Given the description of an element on the screen output the (x, y) to click on. 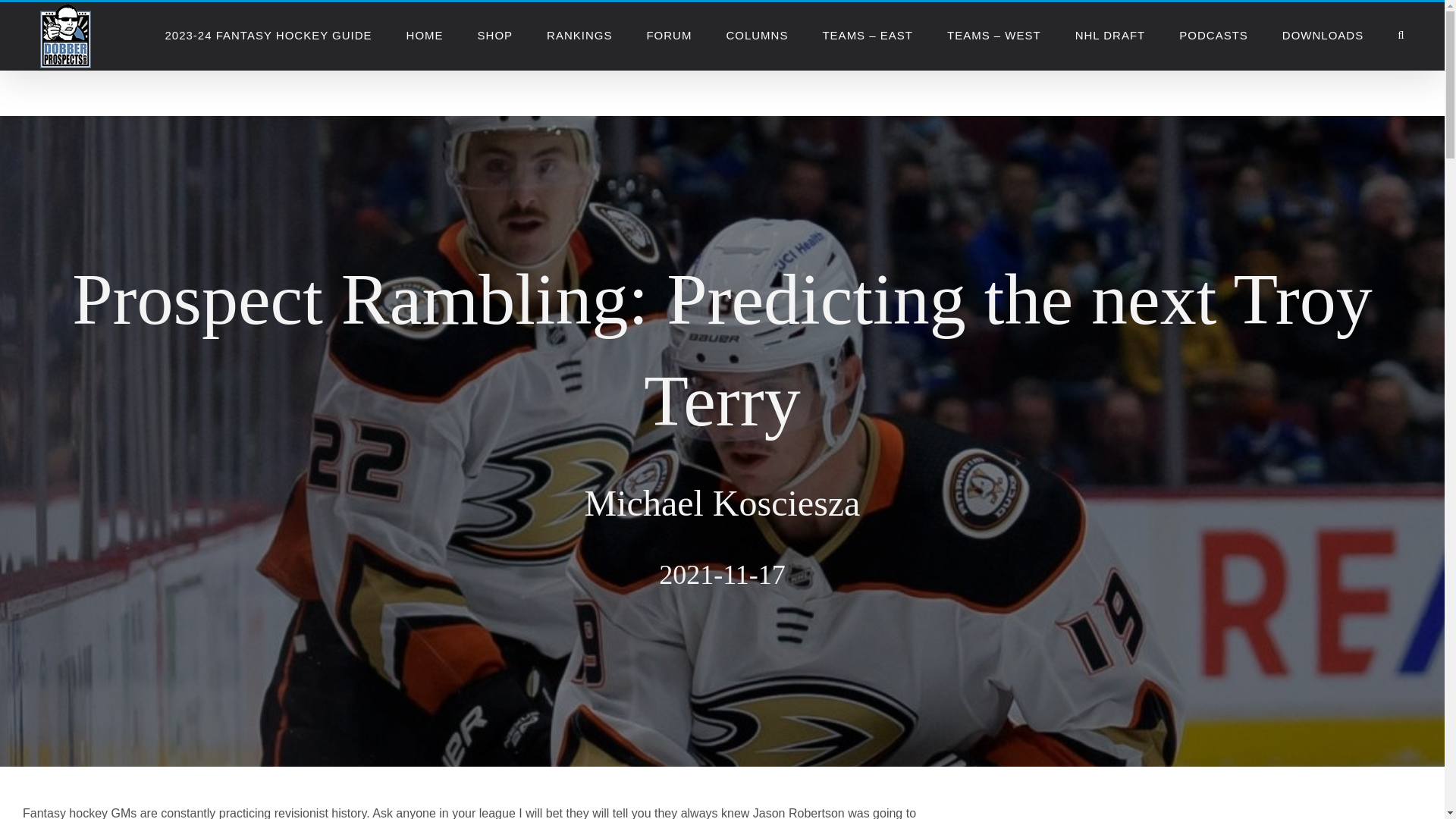
RANKINGS (579, 34)
2023-24 FANTASY HOCKEY GUIDE (267, 34)
COLUMNS (756, 34)
